Given the description of an element on the screen output the (x, y) to click on. 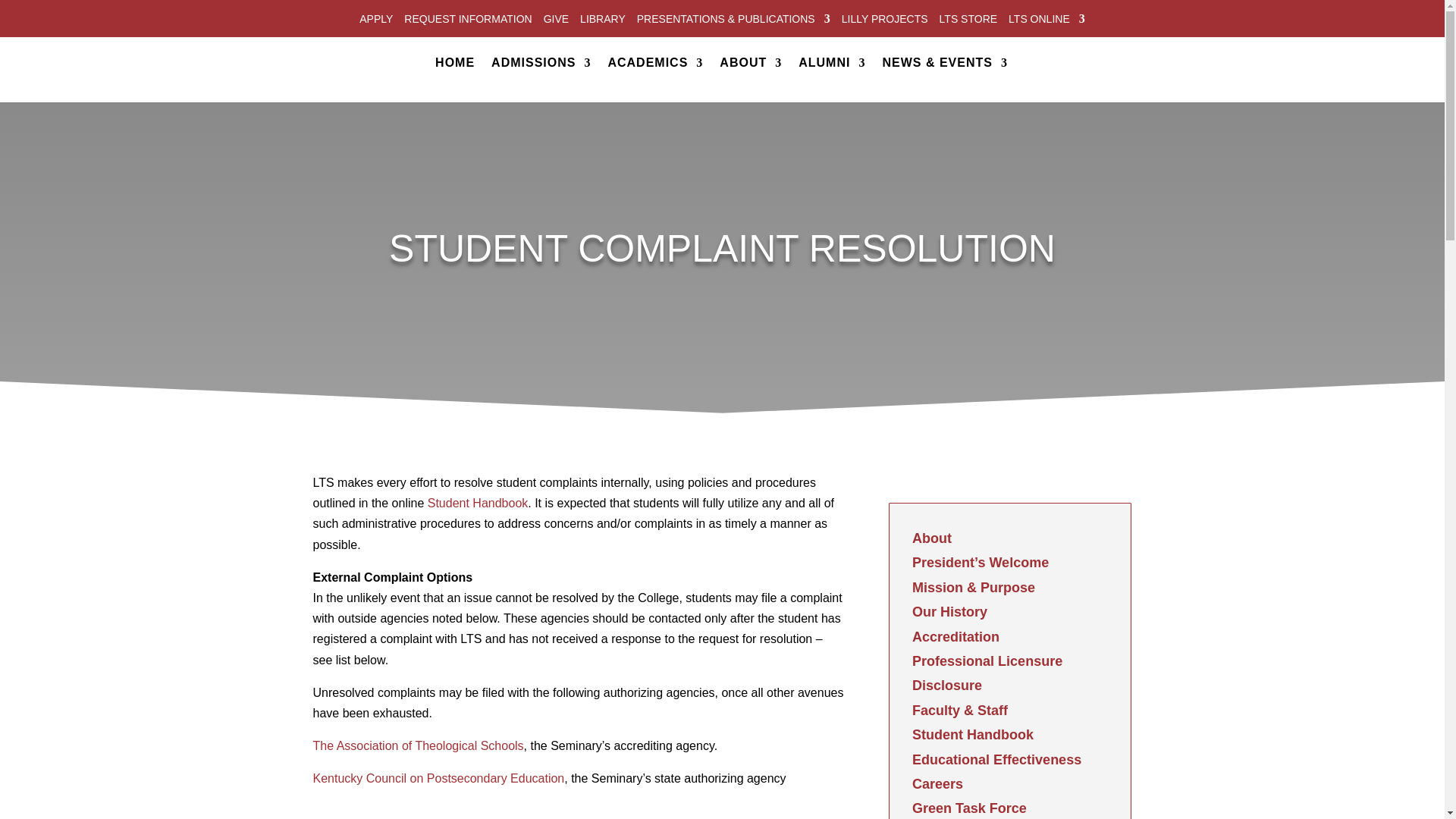
ALUMNI (830, 79)
APPLY (376, 21)
HOME (454, 79)
ABOUT (750, 79)
LTS ONLINE (1046, 21)
LIBRARY (602, 21)
REQUEST INFORMATION (467, 21)
ACADEMICS (655, 79)
ADMISSIONS (541, 79)
LTS STORE (968, 21)
LILLY PROJECTS (884, 21)
GIVE (556, 21)
